Given the description of an element on the screen output the (x, y) to click on. 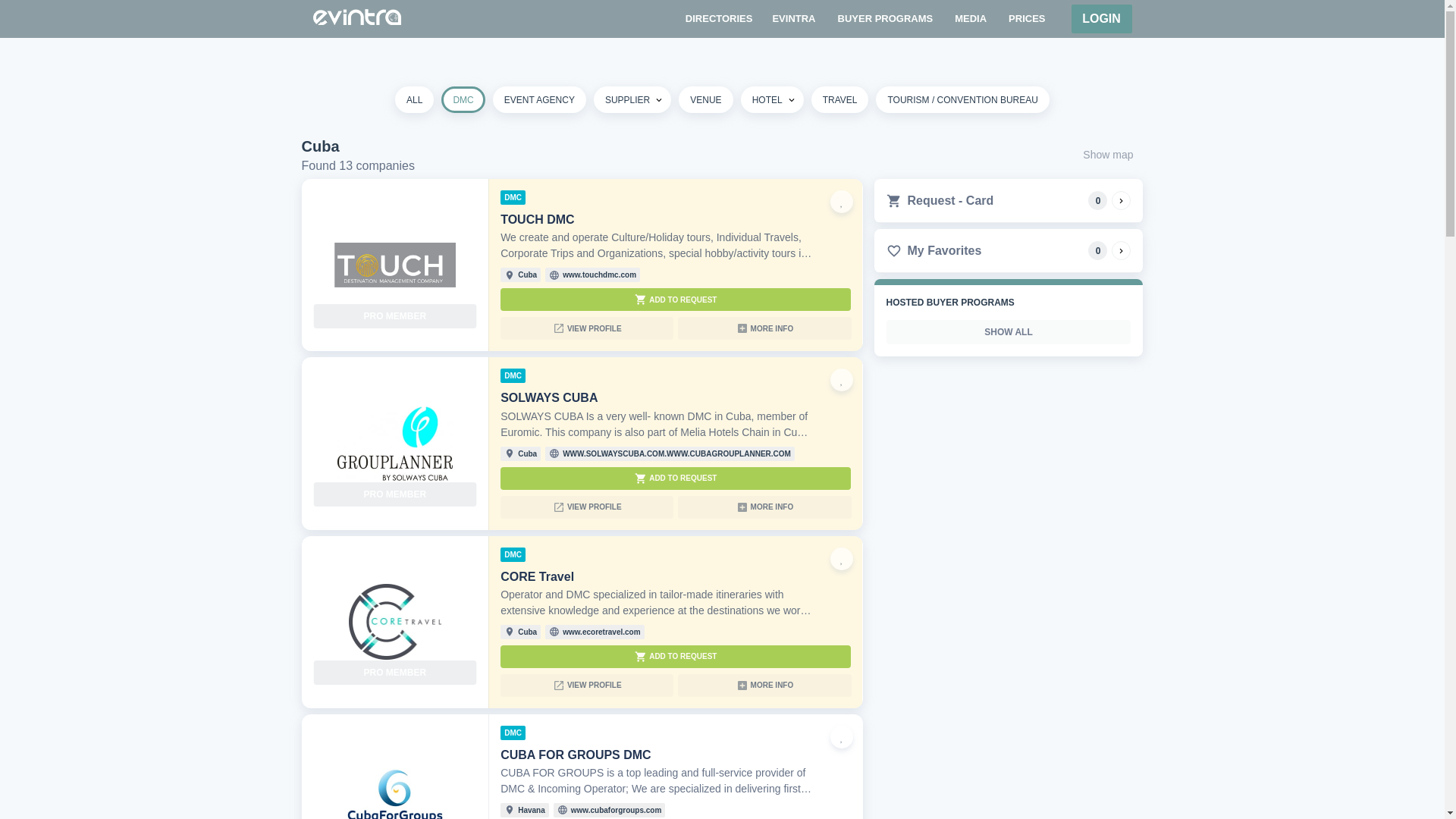
VIEW PROFILE (586, 327)
MORE INFO (764, 327)
ADD TO REQUEST (675, 299)
BUYER PROGRAMS (884, 18)
LOGIN (1100, 18)
PRICES (1026, 18)
Hosted Buyer Programs and Fam Trips (884, 18)
www.touchdmc.com (599, 274)
WWW.SOLWAYSCUBA.COM.WWW.CUBAGROUPLANNER.COM (676, 453)
Show map (1107, 154)
www.ecoretravel.com (601, 632)
DIRECTORIES (718, 18)
VIEW PROFILE (586, 507)
ADD TO REQUEST (675, 477)
